Given the description of an element on the screen output the (x, y) to click on. 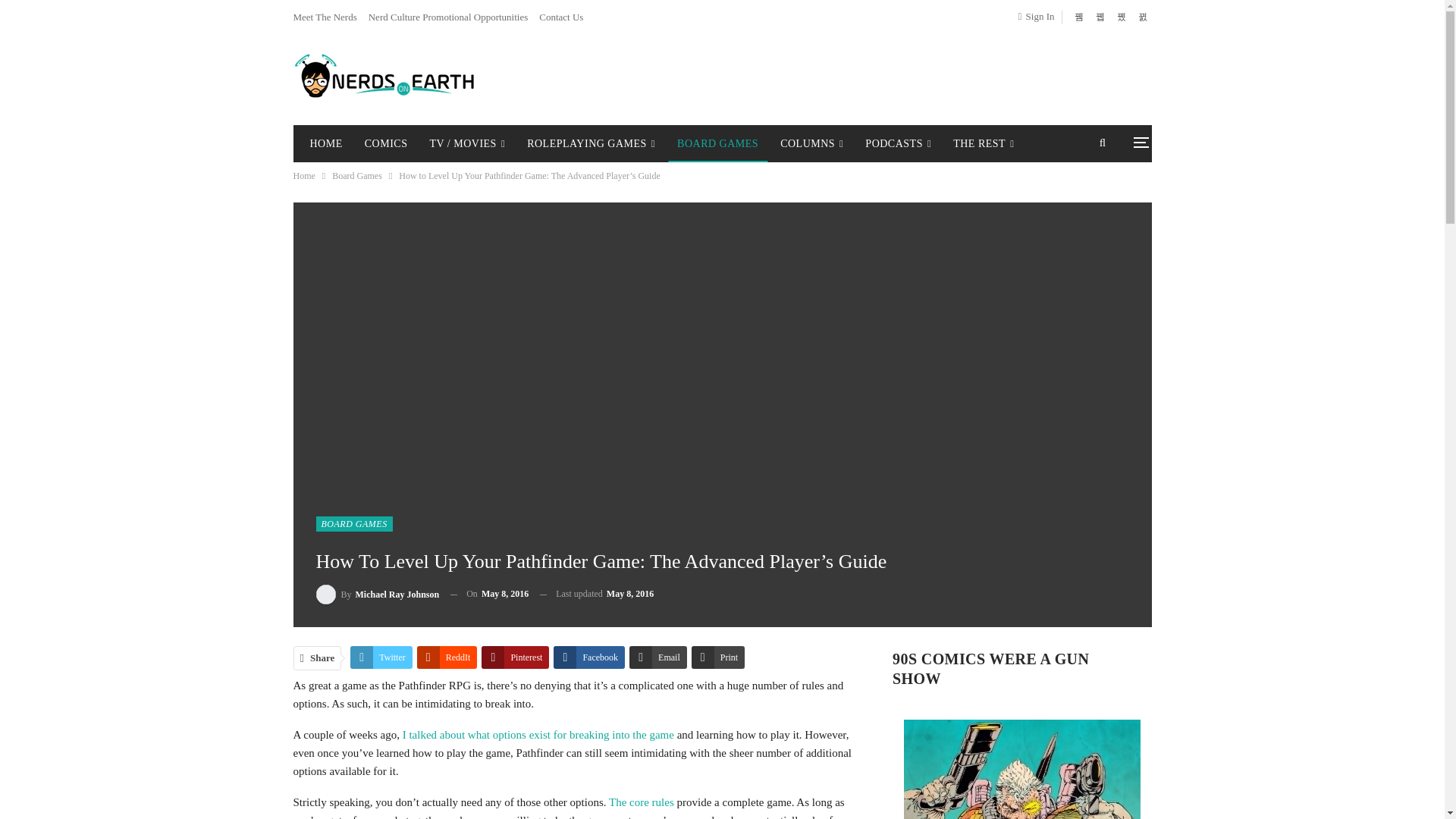
Sign In (1039, 16)
BOARD GAMES (717, 144)
Browse Author Articles (377, 593)
HOME (324, 144)
COMICS (385, 144)
Nerd Culture Promotional Opportunities (448, 16)
COLUMNS (811, 144)
Meet The Nerds (324, 16)
ROLEPLAYING GAMES (590, 144)
PODCASTS (898, 144)
